Given the description of an element on the screen output the (x, y) to click on. 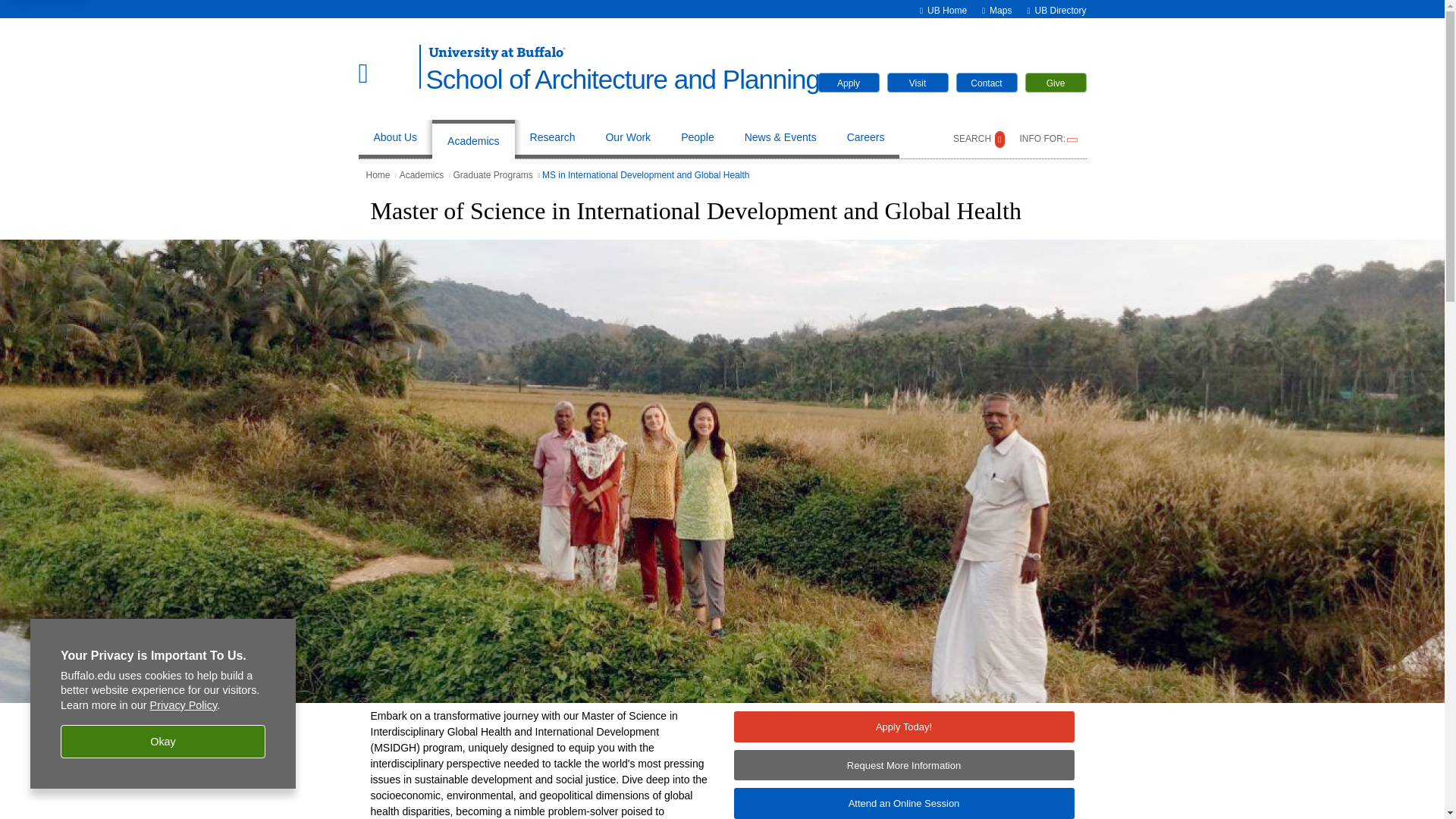
About Us (394, 138)
Academics (473, 138)
